Given the description of an element on the screen output the (x, y) to click on. 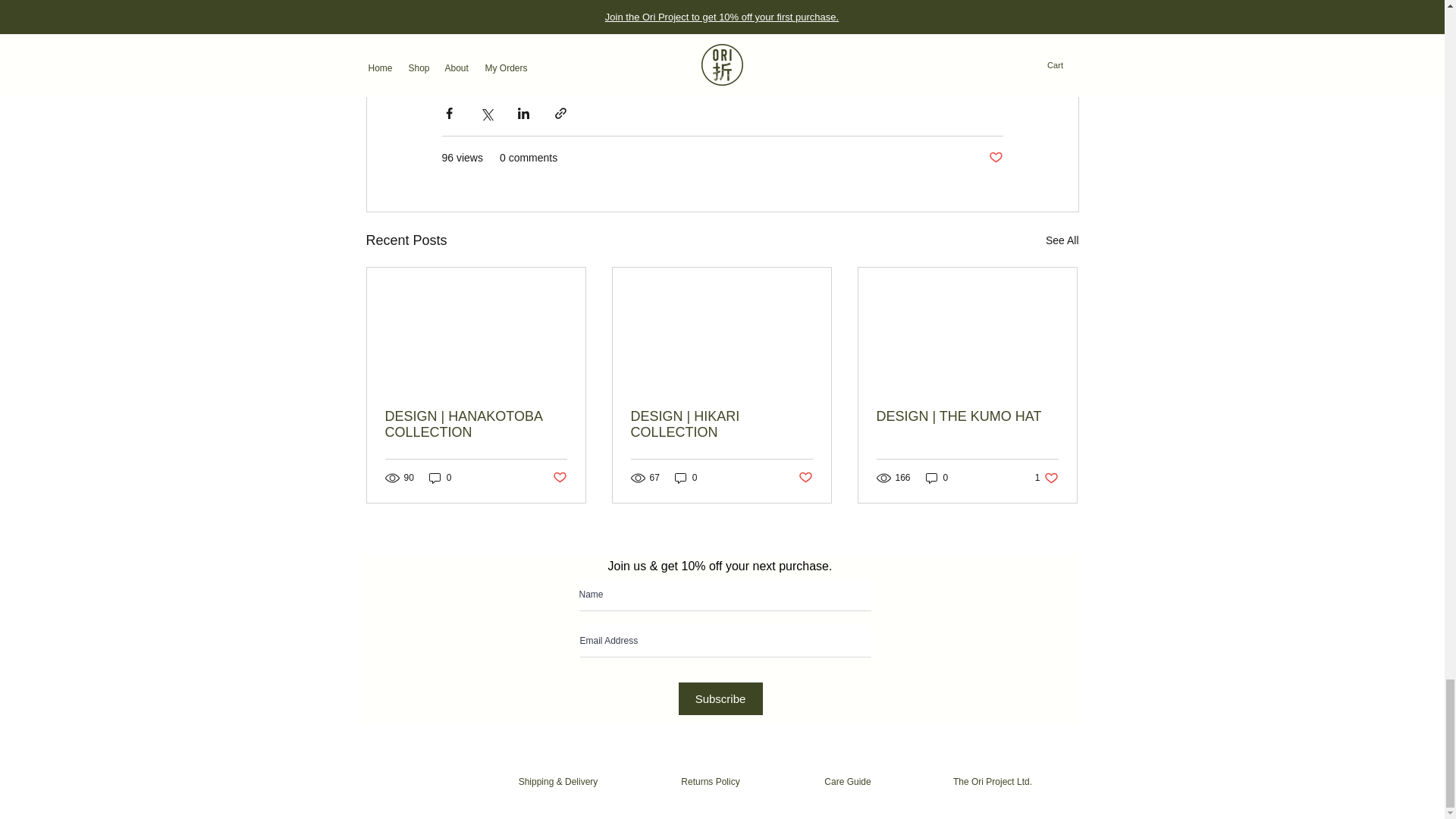
See All (1061, 240)
Post not marked as liked (995, 157)
0 (440, 477)
